Given the description of an element on the screen output the (x, y) to click on. 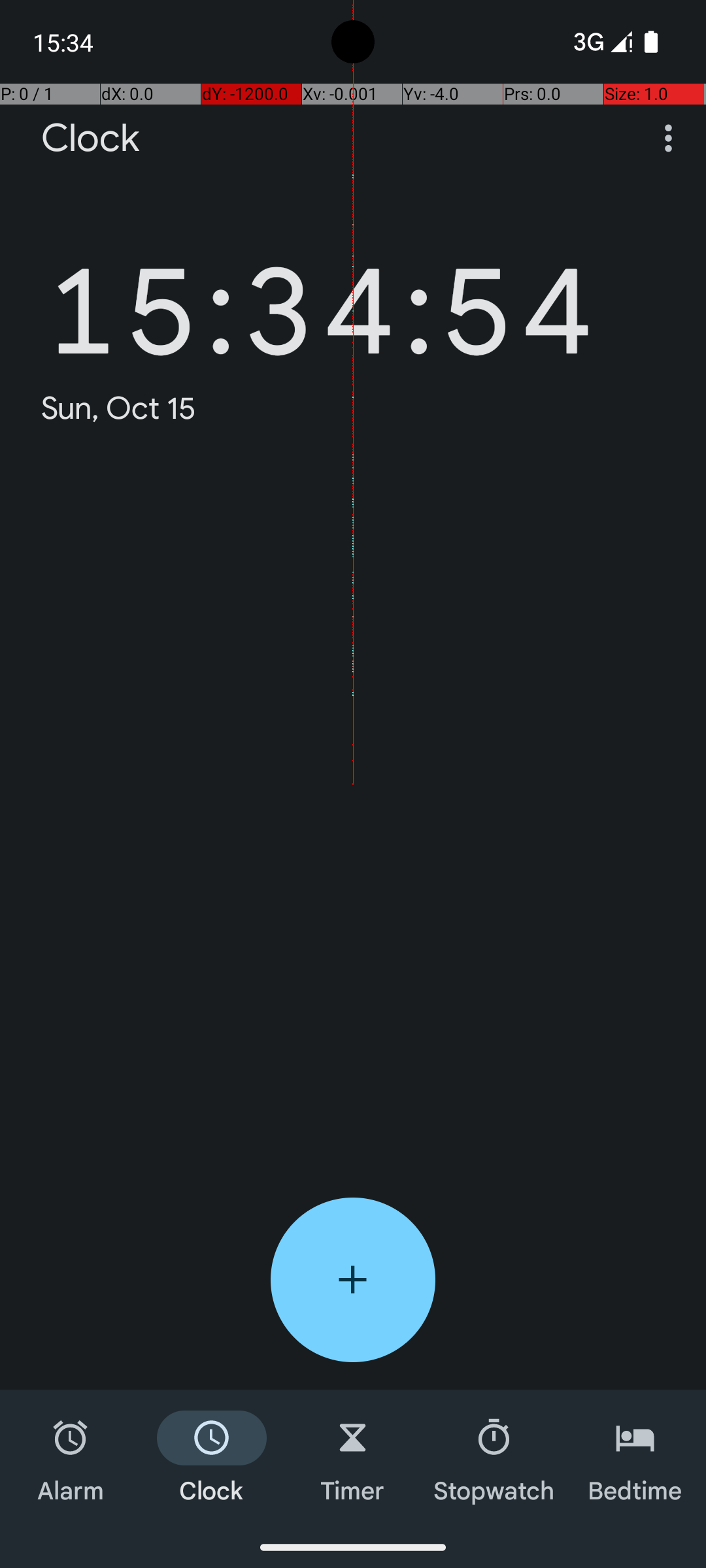
15:34:54 Element type: android.widget.TextView (319, 290)
